Given the description of an element on the screen output the (x, y) to click on. 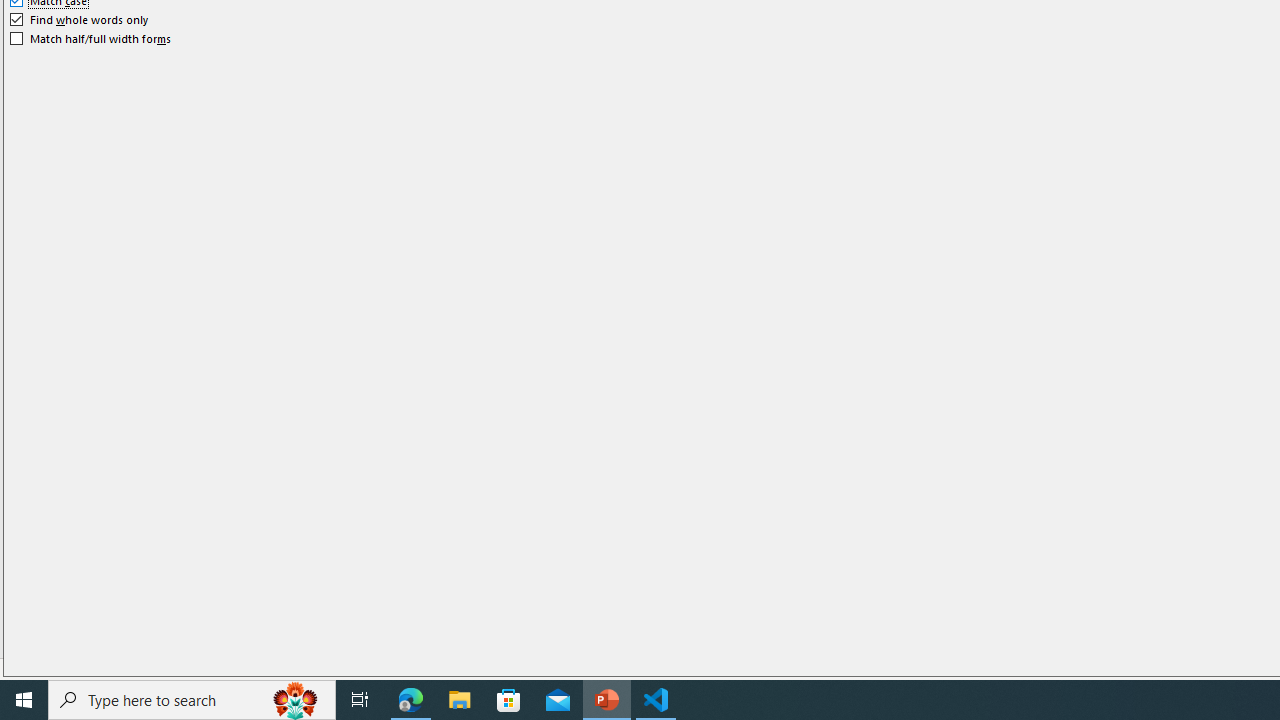
Match half/full width forms (91, 38)
Find whole words only (79, 20)
